Given the description of an element on the screen output the (x, y) to click on. 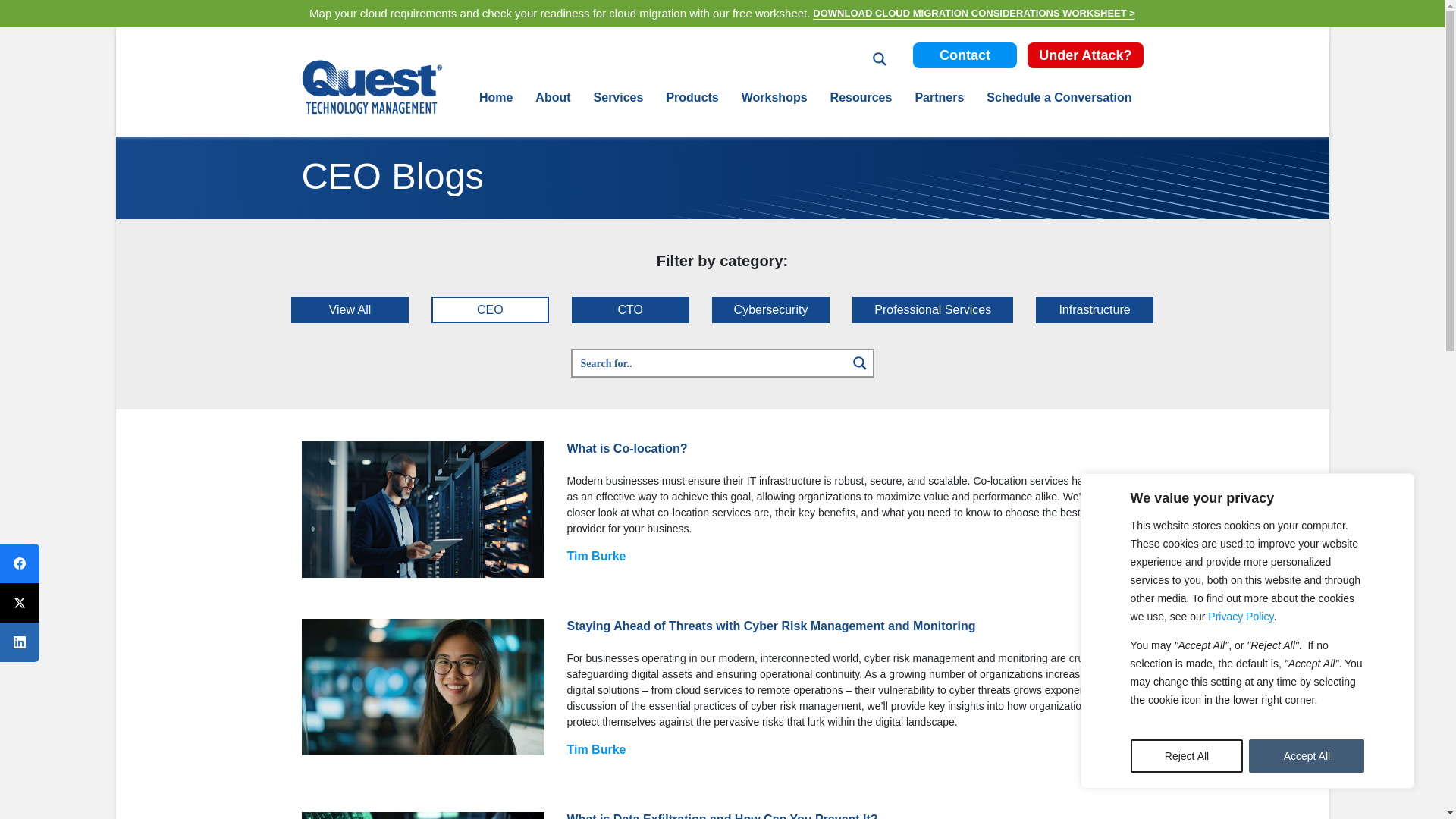
Under Attack? (1084, 54)
What is Data Exfiltration and How Can You Prevent It? (422, 815)
Home (495, 97)
Accept All (1306, 756)
Services (618, 97)
Contact (964, 54)
Privacy Policy (1240, 616)
Reject All (1187, 756)
What is Co-location? (422, 509)
Quest Logo (371, 86)
About (552, 97)
